Given the description of an element on the screen output the (x, y) to click on. 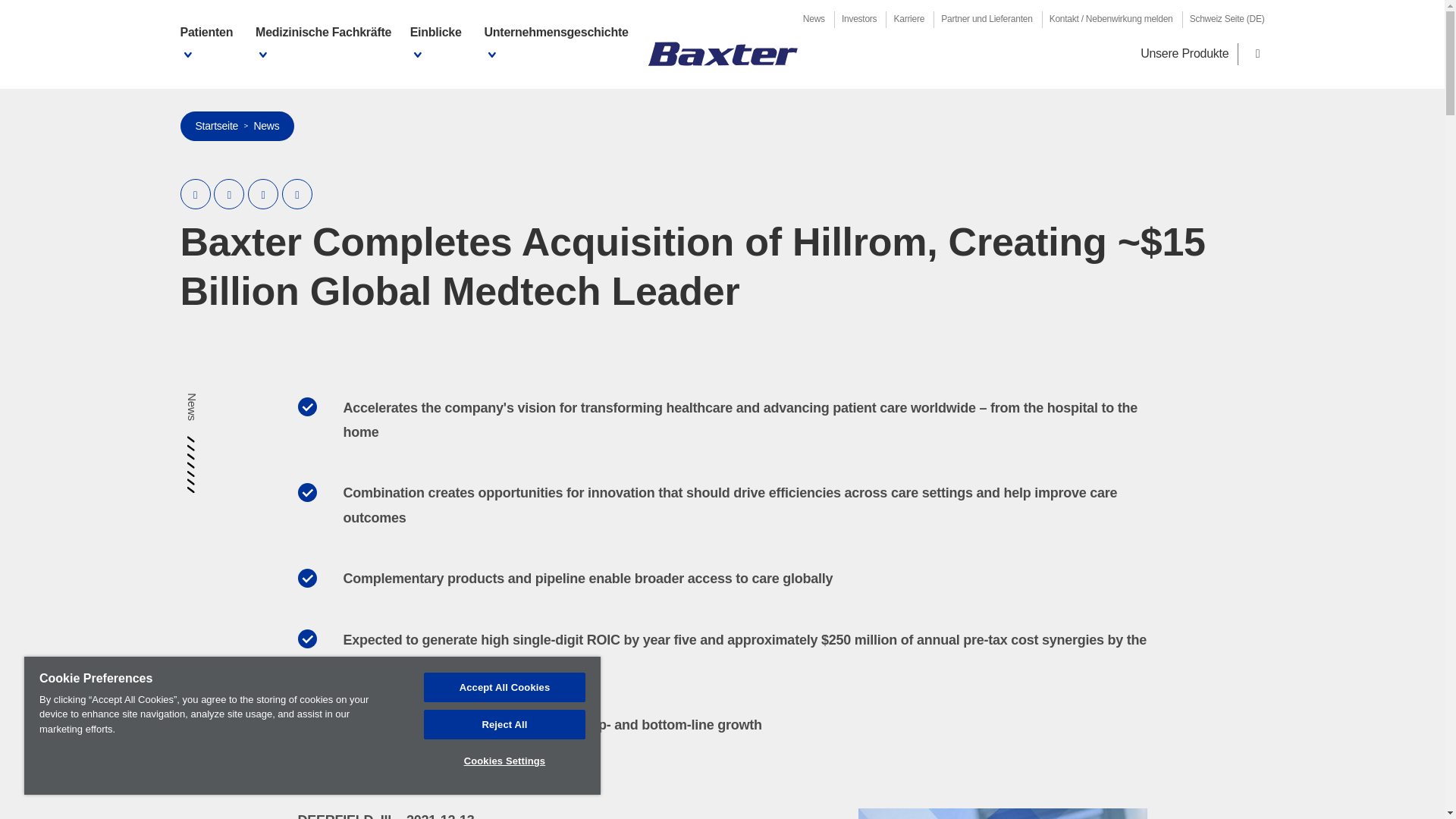
Investors Element type: text (858, 18)
Karriere Element type: text (908, 18)
Partner und Lieferanten Element type: text (986, 18)
Einblicke Element type: text (440, 43)
Search Element type: text (1257, 53)
Patienten Element type: text (210, 43)
News Element type: text (266, 125)
Kontakt / Nebenwirkung melden Element type: text (1111, 18)
Startseite Element type: text (216, 125)
Unsere Produkte Element type: text (1184, 53)
News Element type: text (814, 18)
Schweiz Seite (DE) Element type: text (1226, 18)
Unternehmensgeschichte Element type: text (558, 43)
Startseite Element type: hover (721, 52)
